Given the description of an element on the screen output the (x, y) to click on. 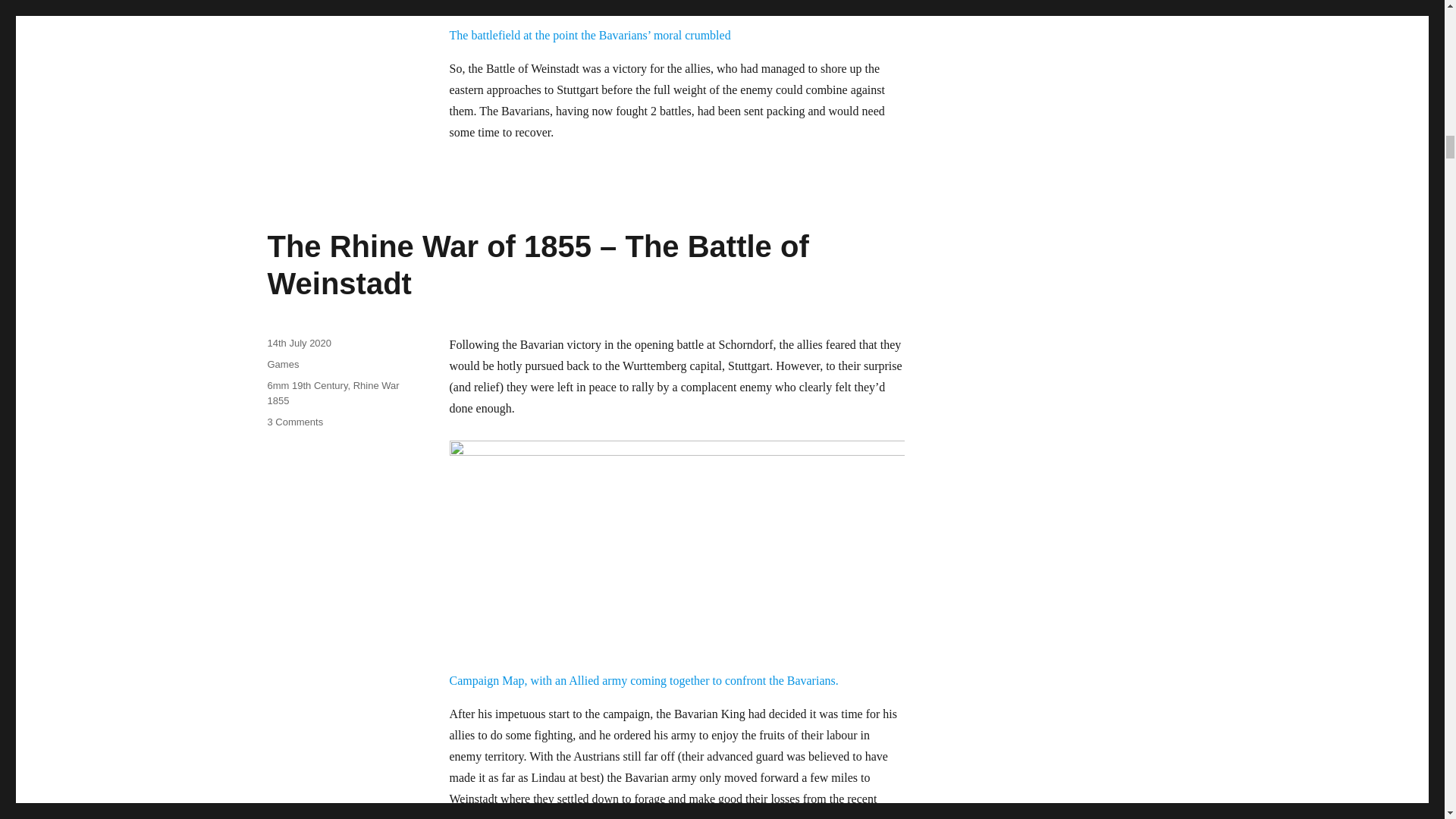
14th July 2020 (298, 342)
Games (282, 364)
6mm 19th Century (306, 384)
Rhine War 1855 (332, 392)
